Given the description of an element on the screen output the (x, y) to click on. 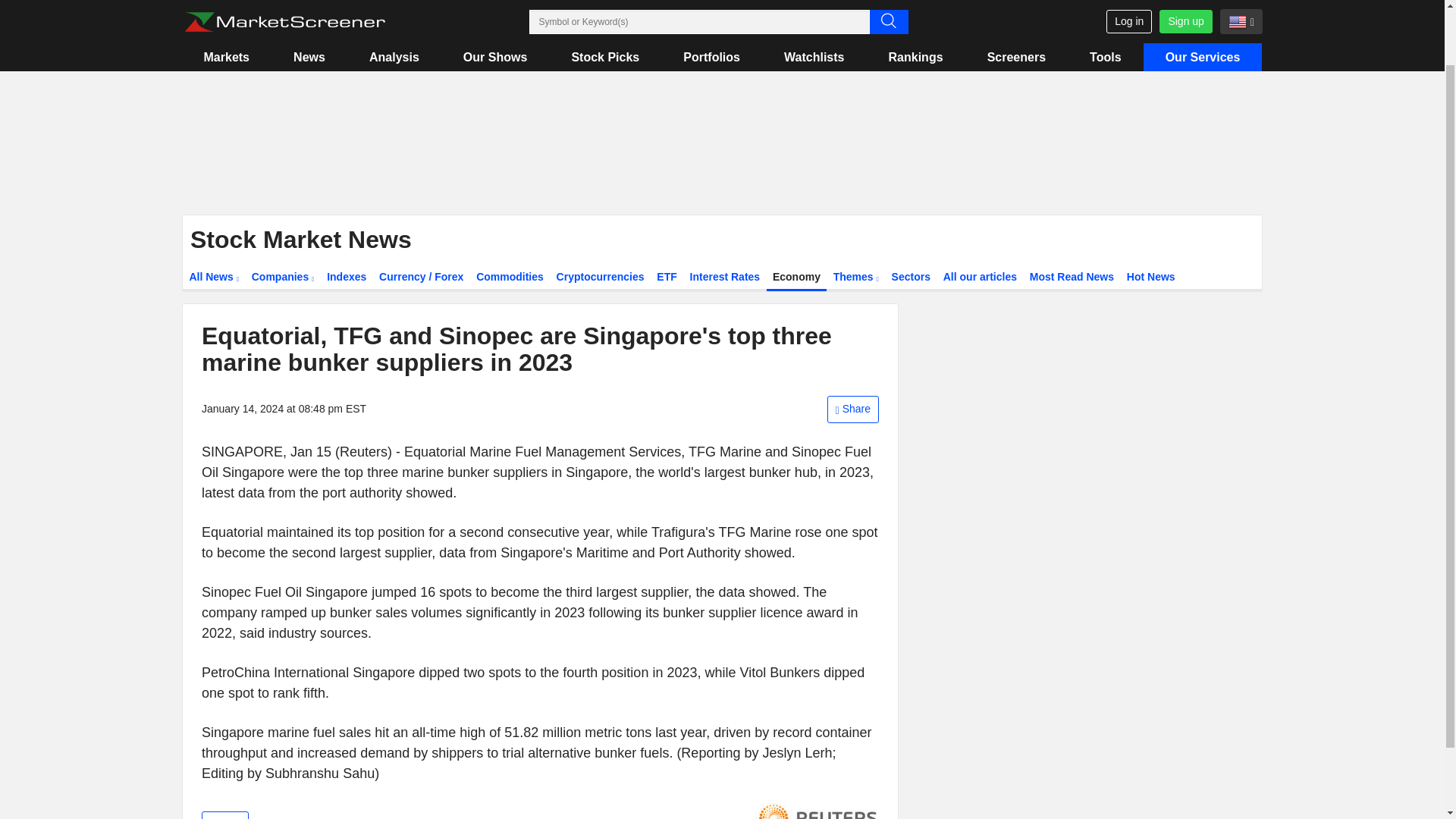
Markets (226, 2)
